Given the description of an element on the screen output the (x, y) to click on. 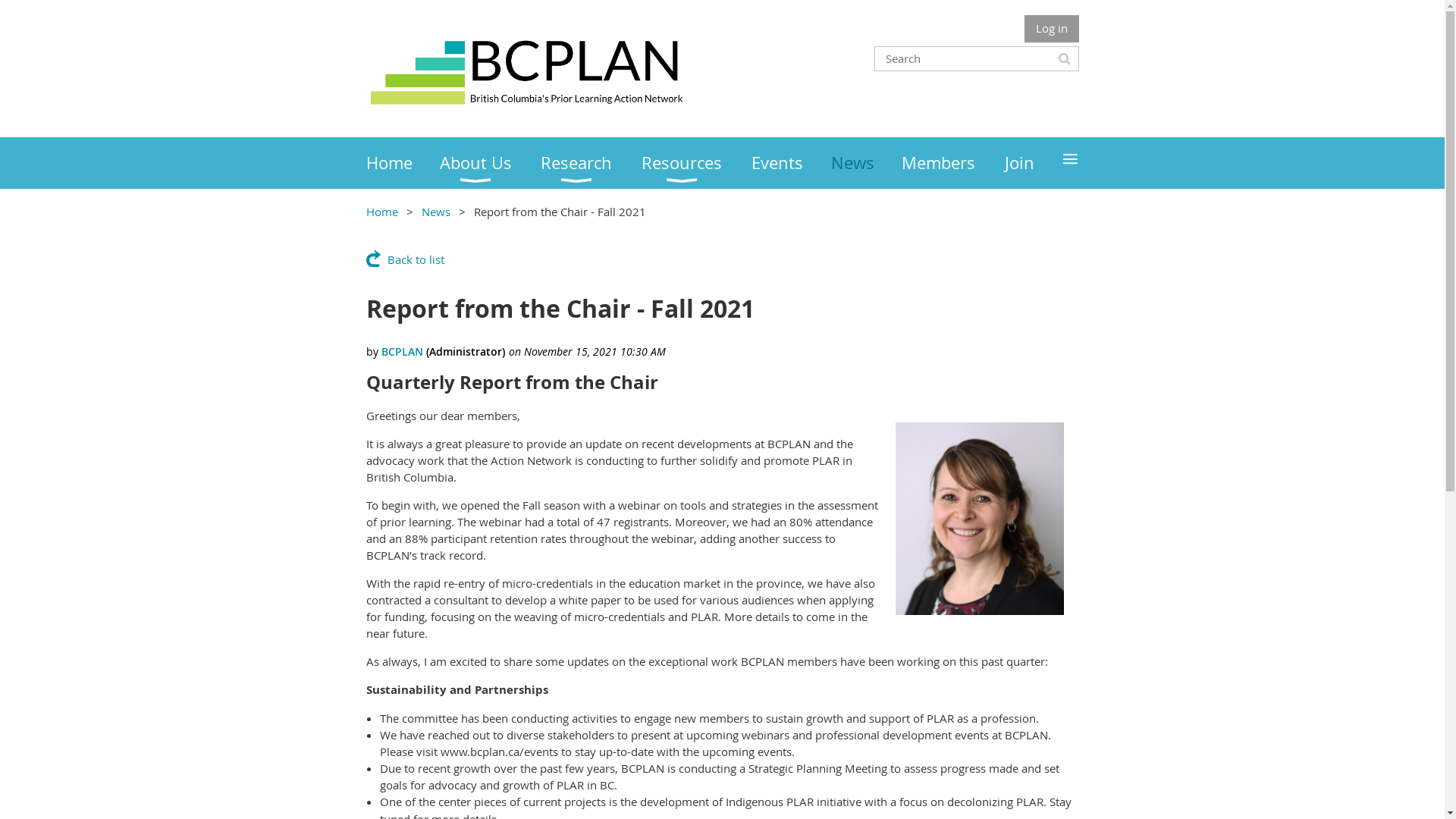
Log in Element type: text (1050, 28)
BCPLAN Element type: text (401, 351)
Research Element type: text (590, 162)
Back to list Element type: text (404, 257)
News Element type: text (435, 211)
About Us Element type: text (490, 162)
Members Element type: text (952, 162)
Events Element type: text (791, 162)
Resources Element type: text (696, 162)
News Element type: text (866, 162)
Home Element type: text (381, 211)
Join Element type: text (1032, 162)
Home Element type: text (402, 162)
